Given the description of an element on the screen output the (x, y) to click on. 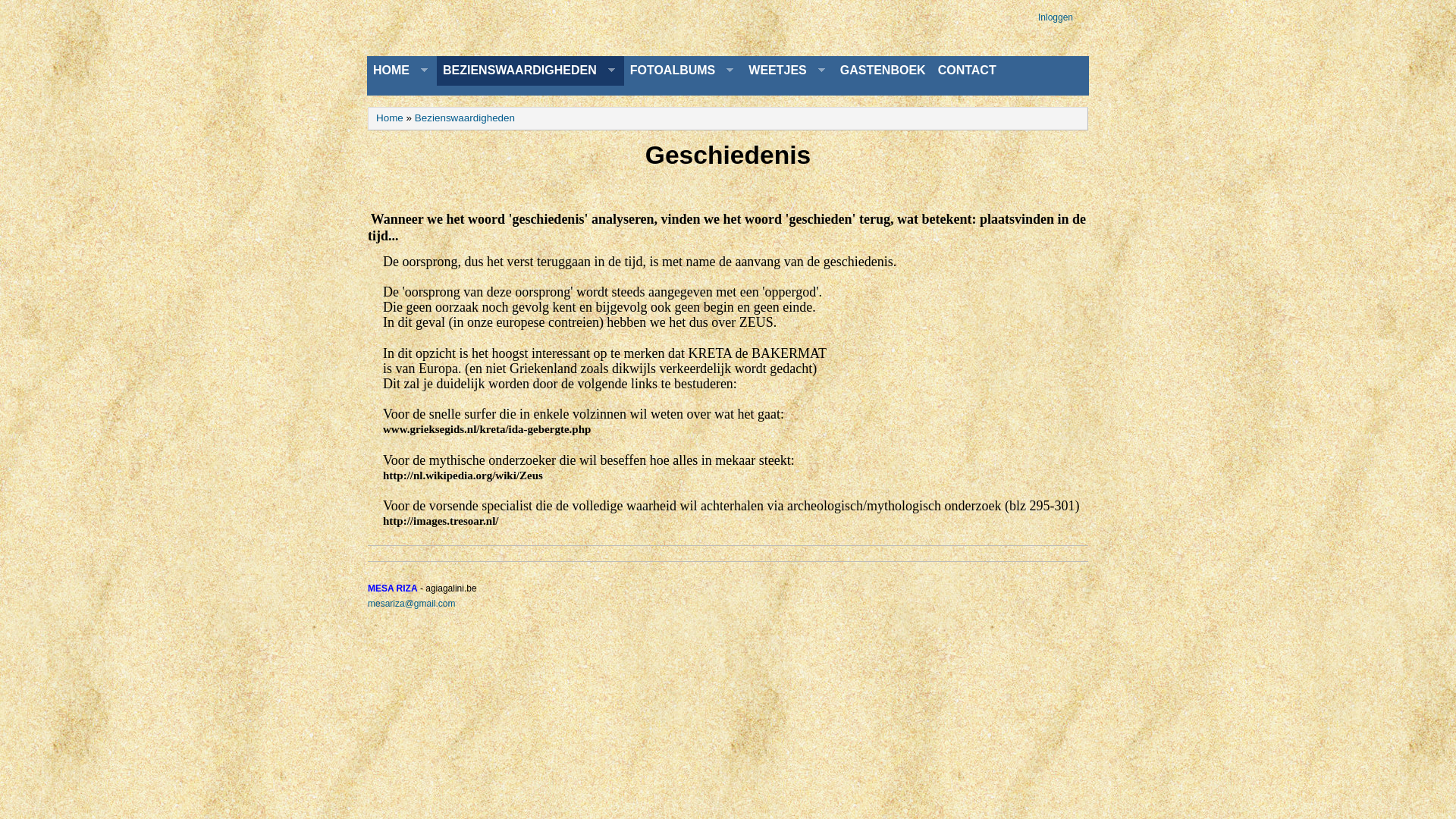
Inloggen Element type: text (1055, 17)
CONTACT Element type: text (966, 70)
Bezienswaardigheden Element type: text (464, 117)
GASTENBOEK Element type: text (882, 70)
mesariza@gmail.com Element type: text (411, 603)
Home Element type: text (389, 117)
http://nl.wikipedia.org/wiki/Zeus Element type: text (462, 475)
www.grieksegids.nl/kreta/ida-gebergte.php Element type: text (486, 429)
http://images.tresoar.nl/ Element type: text (440, 520)
